Given the description of an element on the screen output the (x, y) to click on. 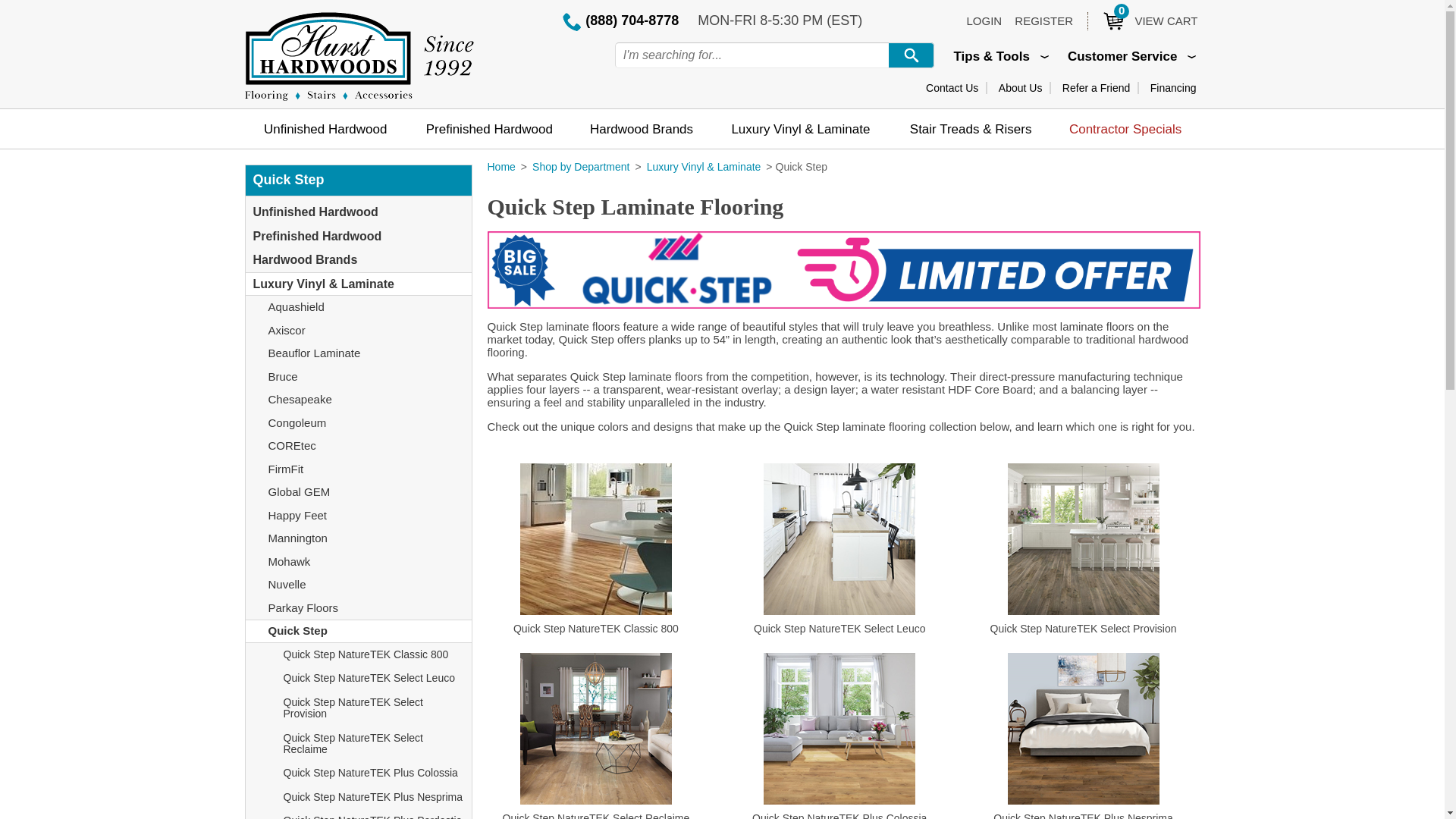
About Us (1020, 87)
Financing (1173, 87)
Contact Us (952, 87)
Unfinished Hardwood (325, 128)
LOGIN (983, 20)
Refer a Friend (1141, 20)
REGISTER (1095, 87)
